Given the description of an element on the screen output the (x, y) to click on. 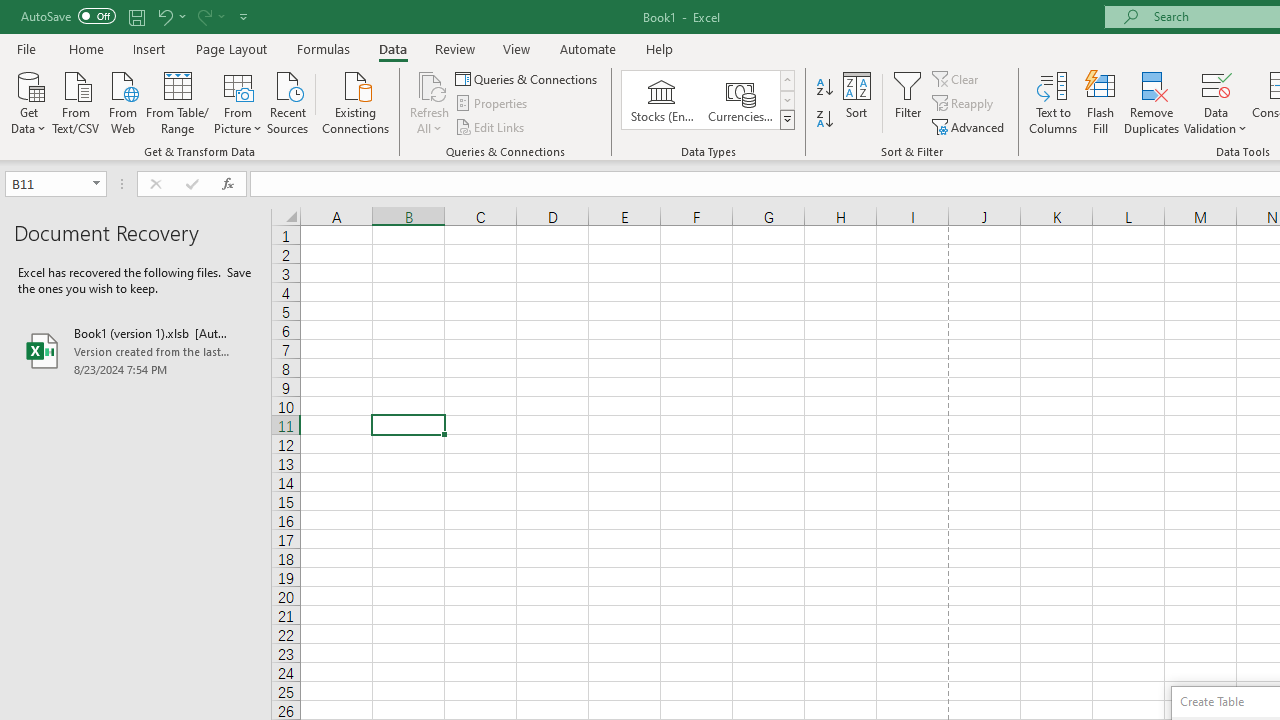
Edit Links (491, 126)
Data Validation... (1215, 102)
Redo (203, 15)
From Text/CSV (75, 101)
Book1 (version 1).xlsb  [AutoRecovered] (136, 350)
System (10, 11)
System (10, 11)
AutoSave (68, 16)
Automate (588, 48)
Row up (786, 79)
Open (96, 183)
Help (660, 48)
From Web (122, 101)
Filter (908, 102)
Recent Sources (287, 101)
